Given the description of an element on the screen output the (x, y) to click on. 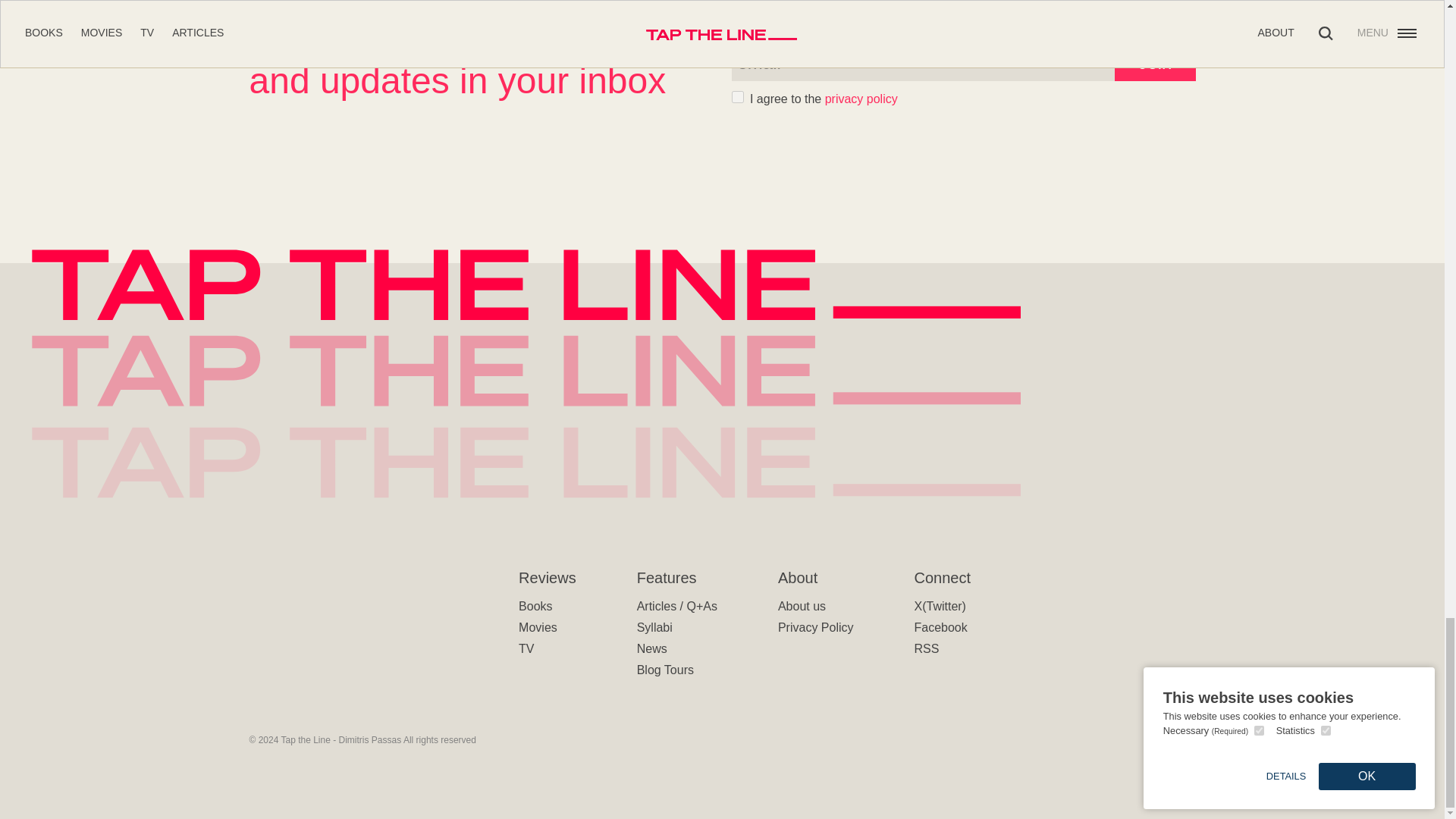
on (736, 96)
Join (1155, 63)
